Given the description of an element on the screen output the (x, y) to click on. 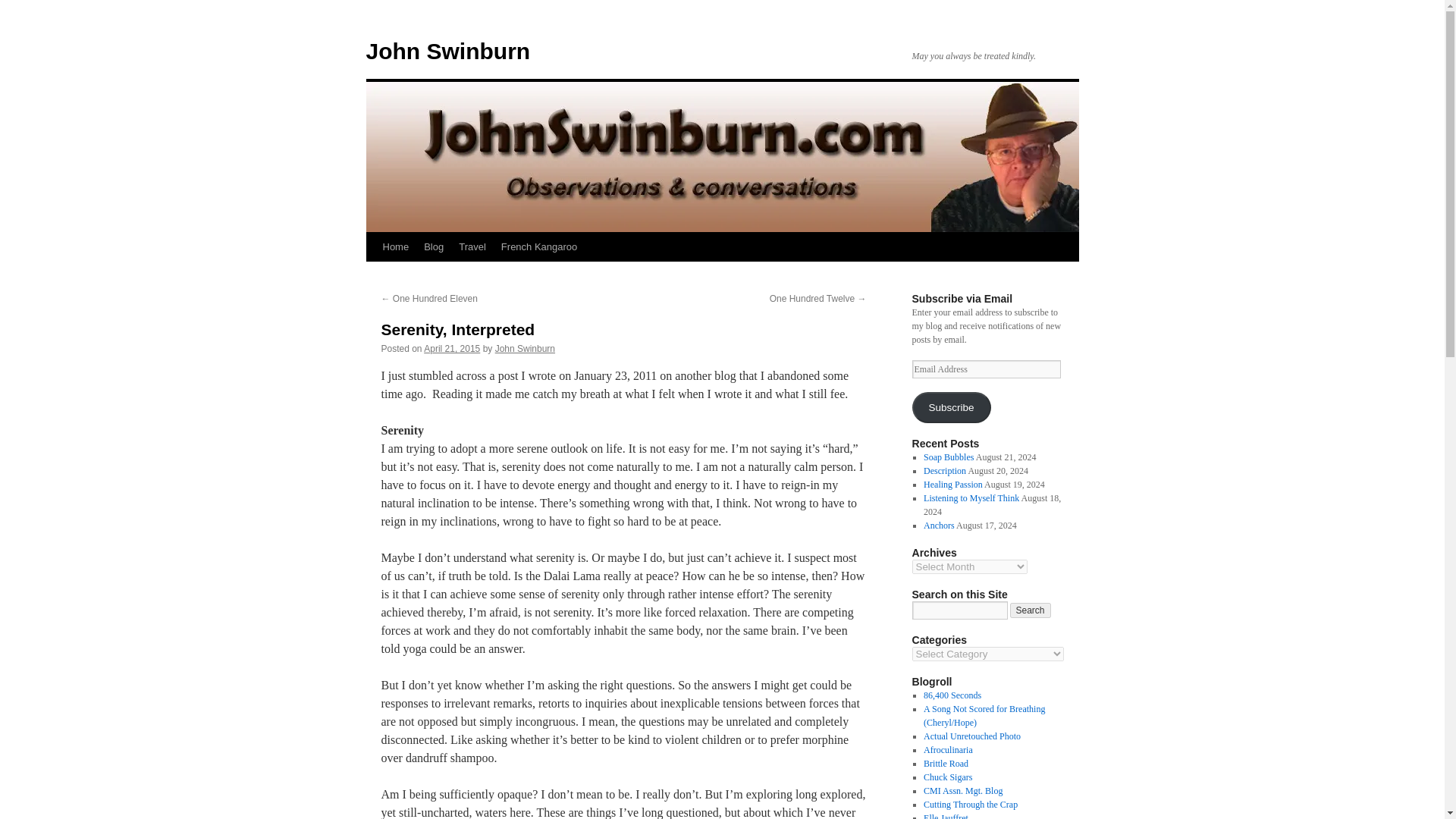
Subscribe (950, 407)
Anchors (939, 525)
86,400 Seconds (952, 695)
Travel (472, 246)
CMI Assn. Mgt. Blog (963, 790)
6:17 am (451, 348)
Blog (433, 246)
Actual Unretouched Photo (971, 736)
Search (1030, 610)
Cutting Through the Crap (970, 804)
